Given the description of an element on the screen output the (x, y) to click on. 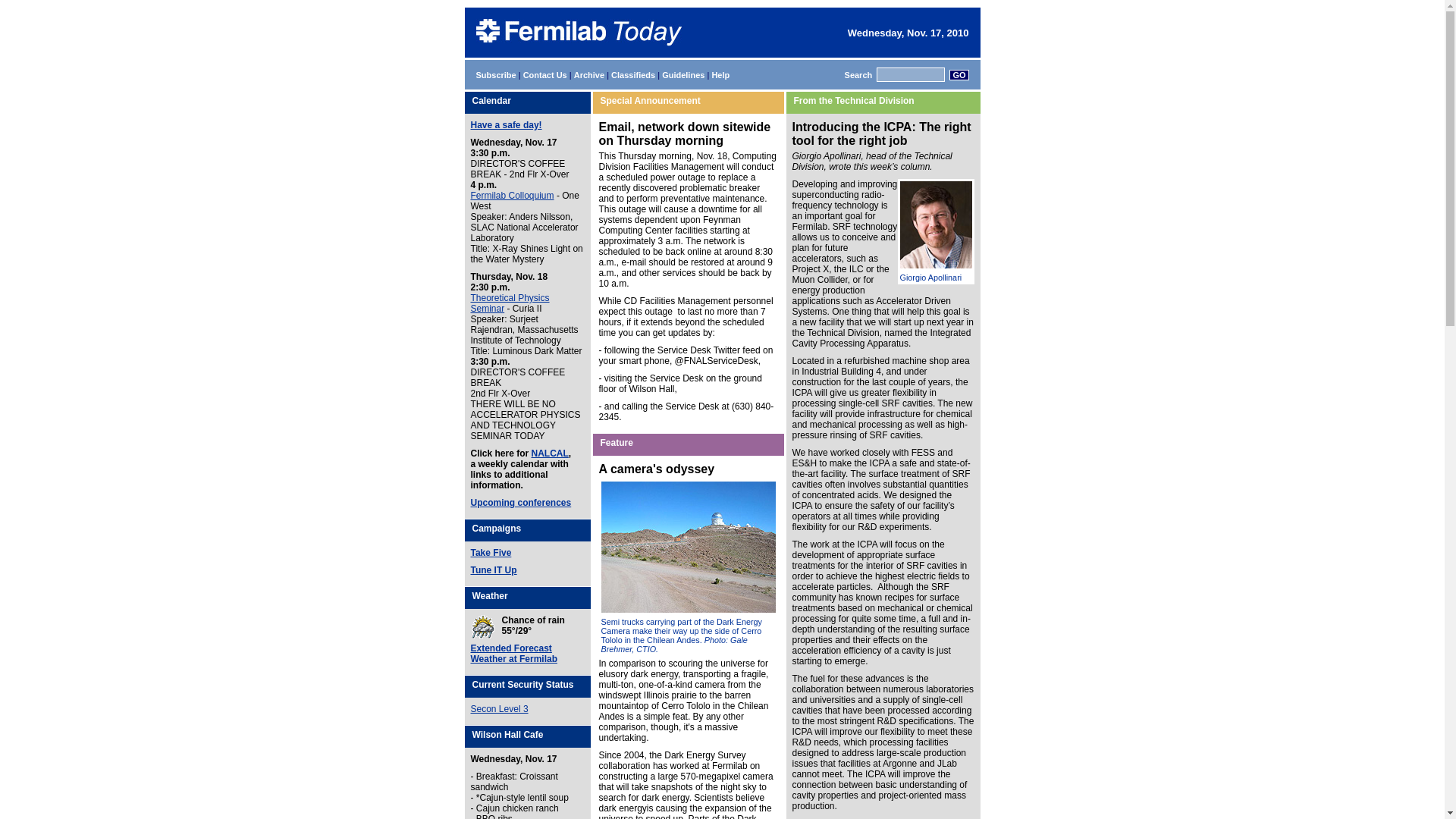
NALCAL (550, 452)
Weather at Fermilab (513, 658)
Have a safe day! (505, 124)
Contact Us (544, 73)
Extended Forecast (510, 647)
Archive (588, 73)
Help (720, 73)
Fermilab Colloquium (511, 195)
Classifieds (633, 73)
Take Five (490, 552)
Secon Level 3 (498, 708)
GO (958, 74)
Upcoming conferences (520, 502)
Subscribe (496, 73)
Theoretical Physics Seminar (509, 302)
